Given the description of an element on the screen output the (x, y) to click on. 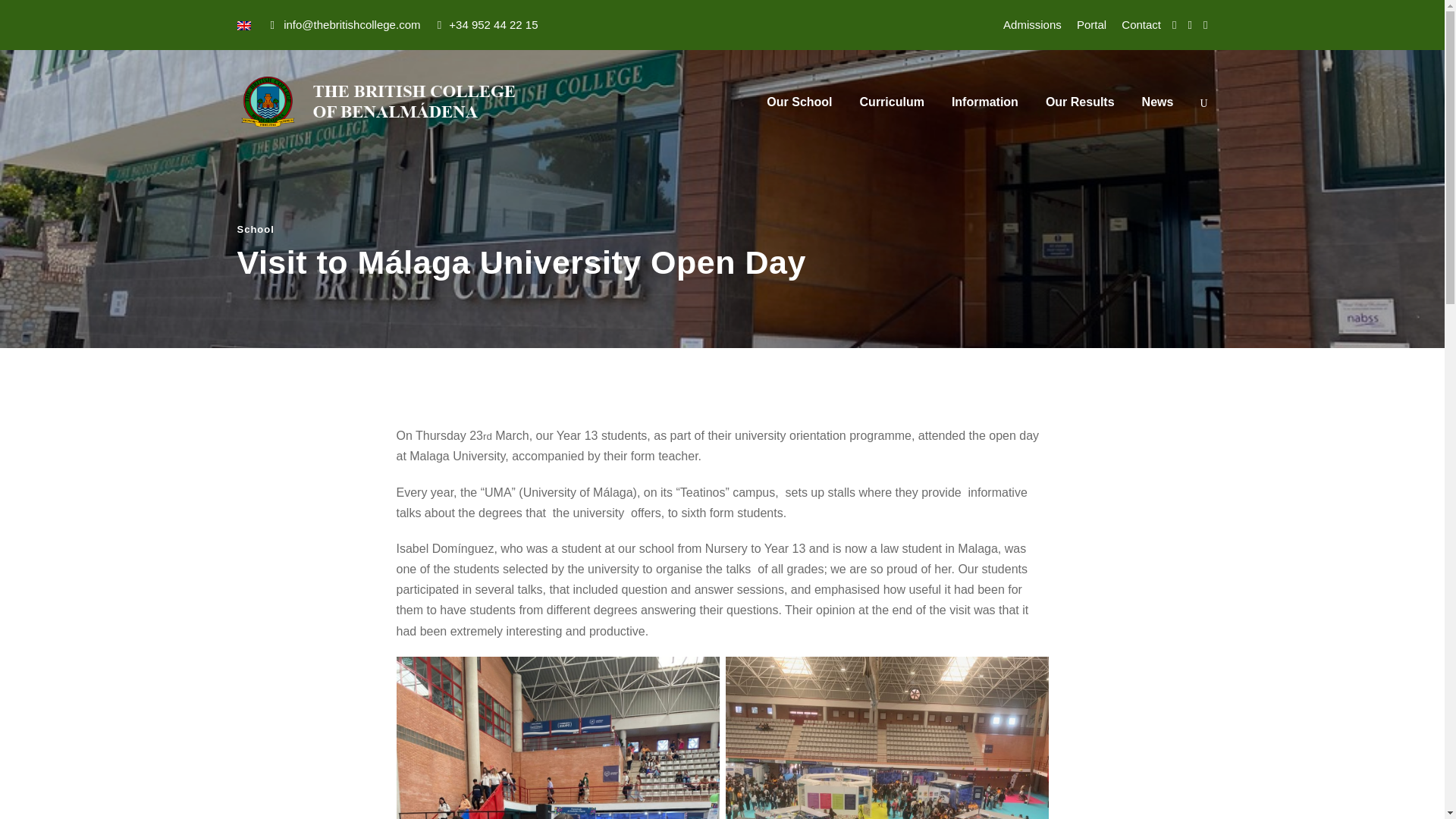
linkedin (1190, 24)
skype (1205, 24)
email (1174, 24)
